Given the description of an element on the screen output the (x, y) to click on. 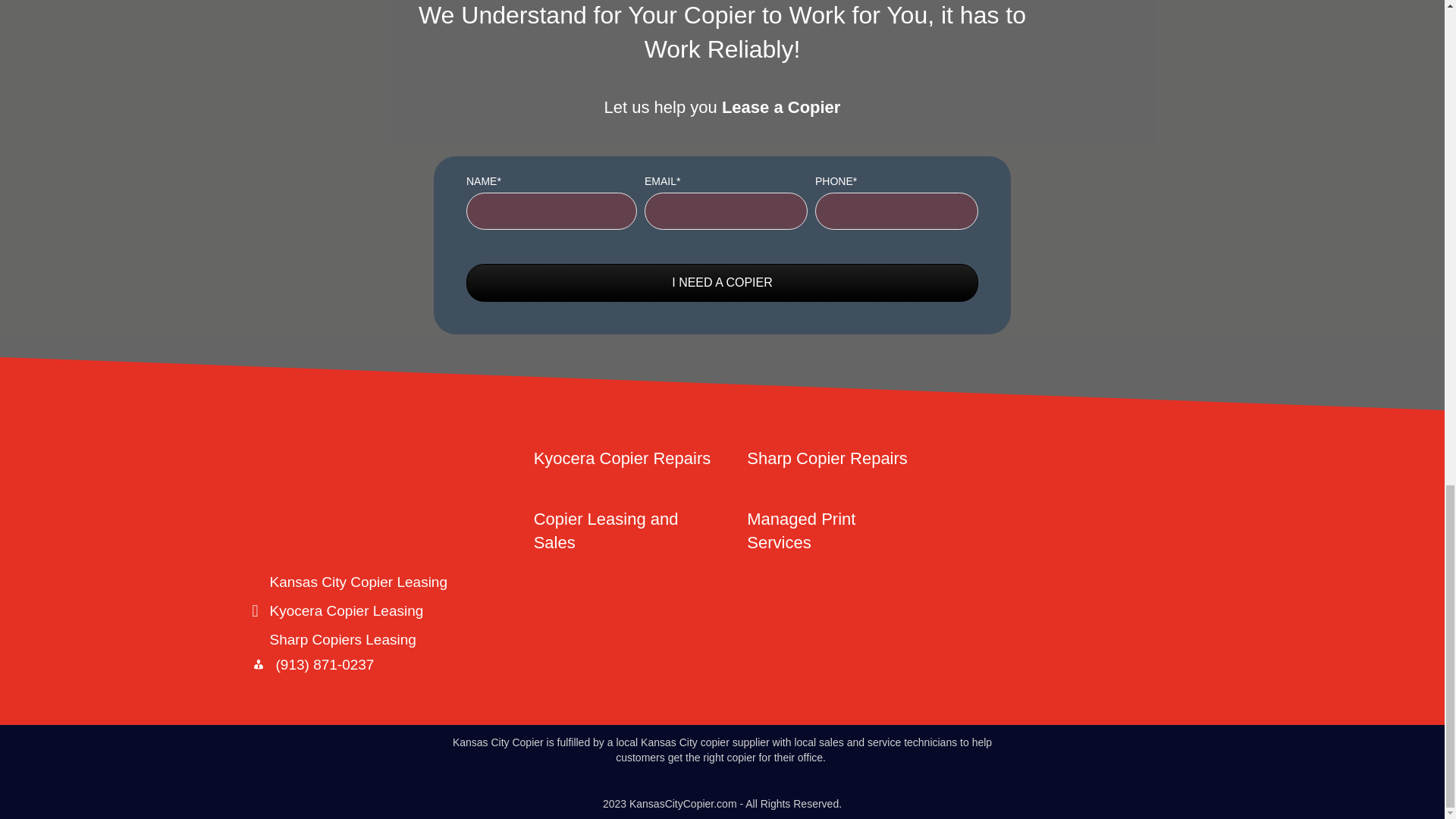
Kansascitycopier-2 (376, 476)
I NEED A COPIER (721, 282)
